Given the description of an element on the screen output the (x, y) to click on. 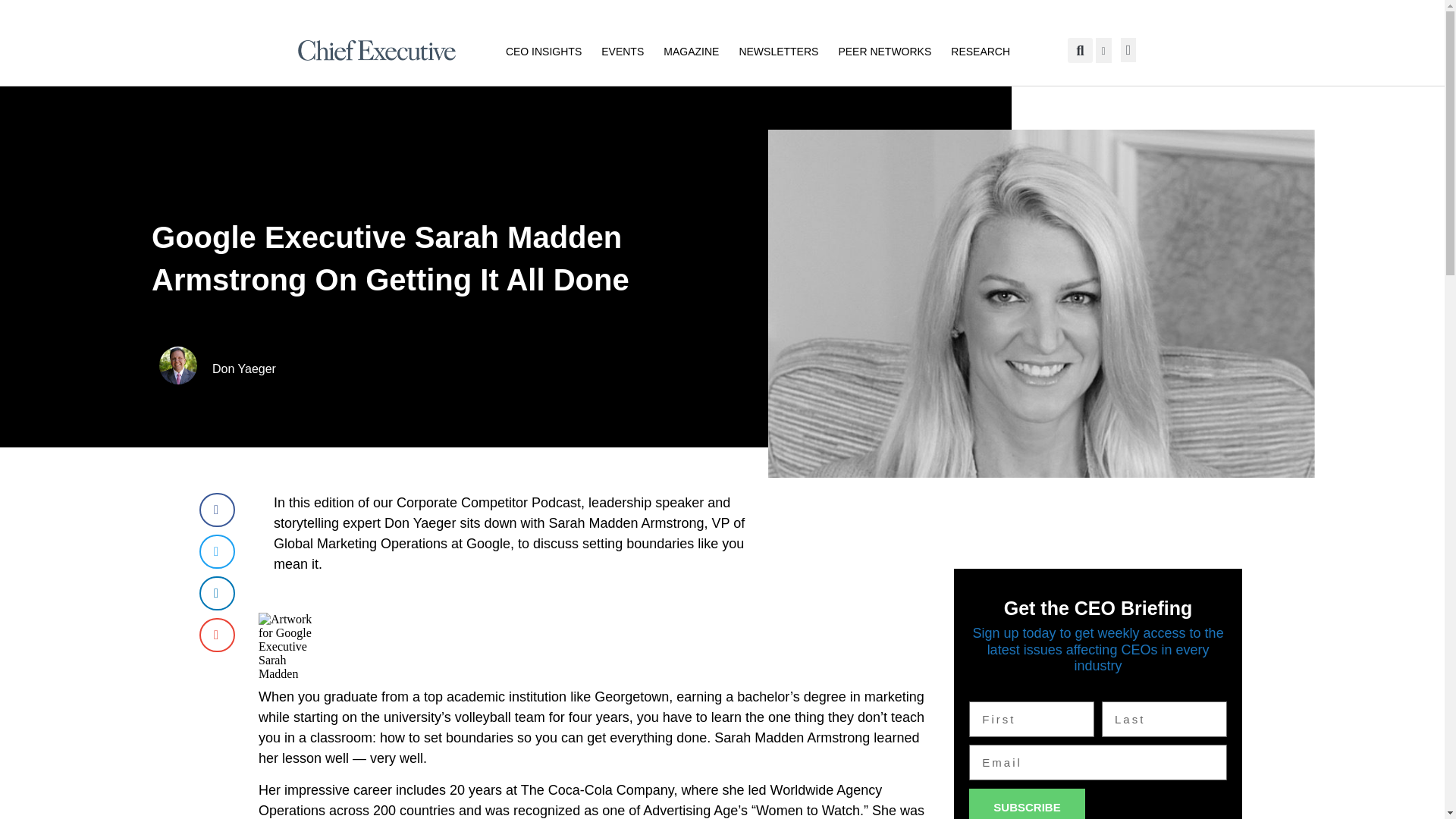
PEER NETWORKS (884, 50)
Libsyn Player (599, 646)
NEWSLETTERS (778, 50)
MAGAZINE (691, 50)
EVENTS (622, 50)
RESEARCH (980, 50)
CEO INSIGHTS (543, 50)
